Given the description of an element on the screen output the (x, y) to click on. 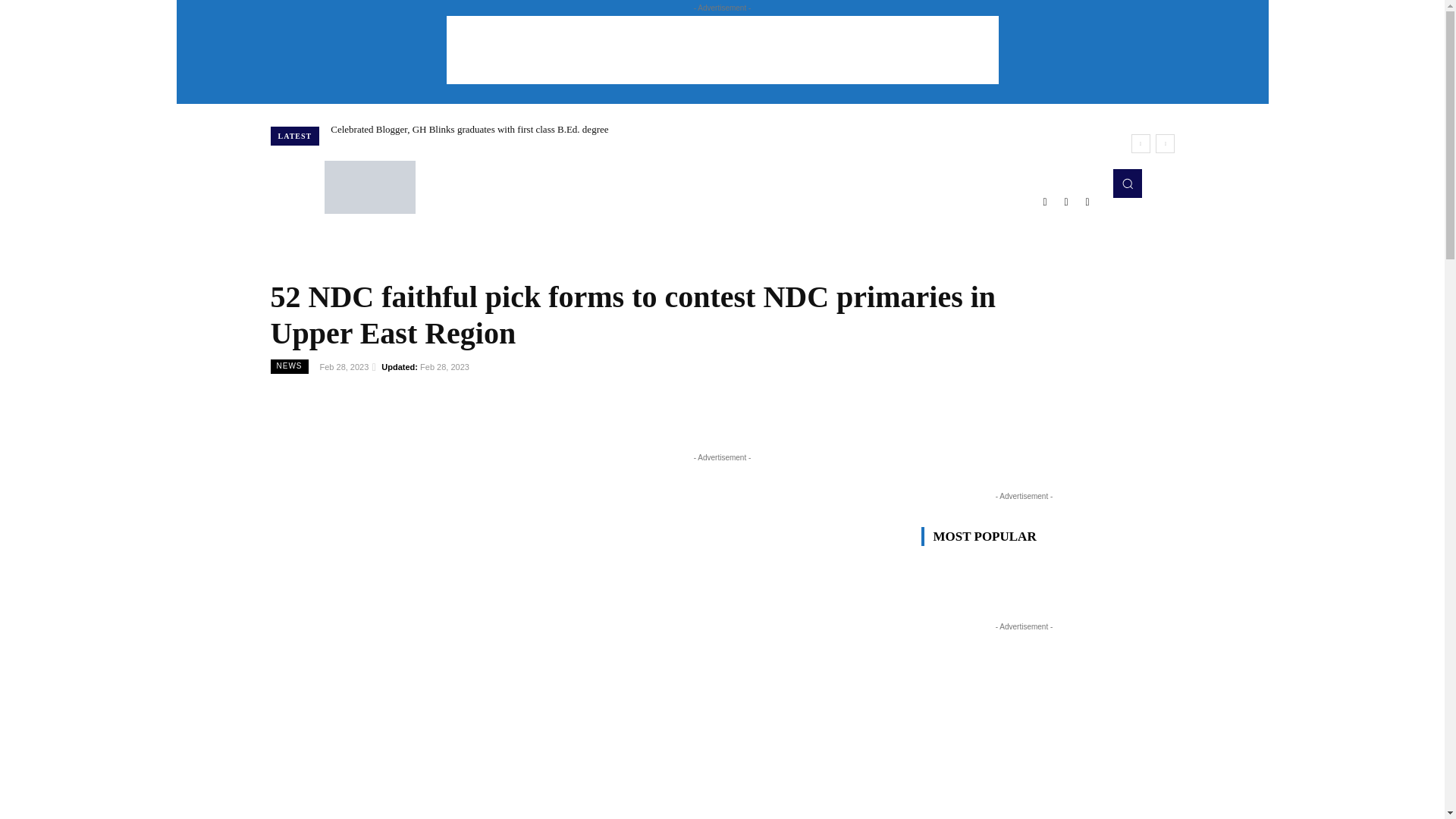
Youtube (1087, 201)
Facebook (1044, 201)
Twitter (1066, 201)
